Given the description of an element on the screen output the (x, y) to click on. 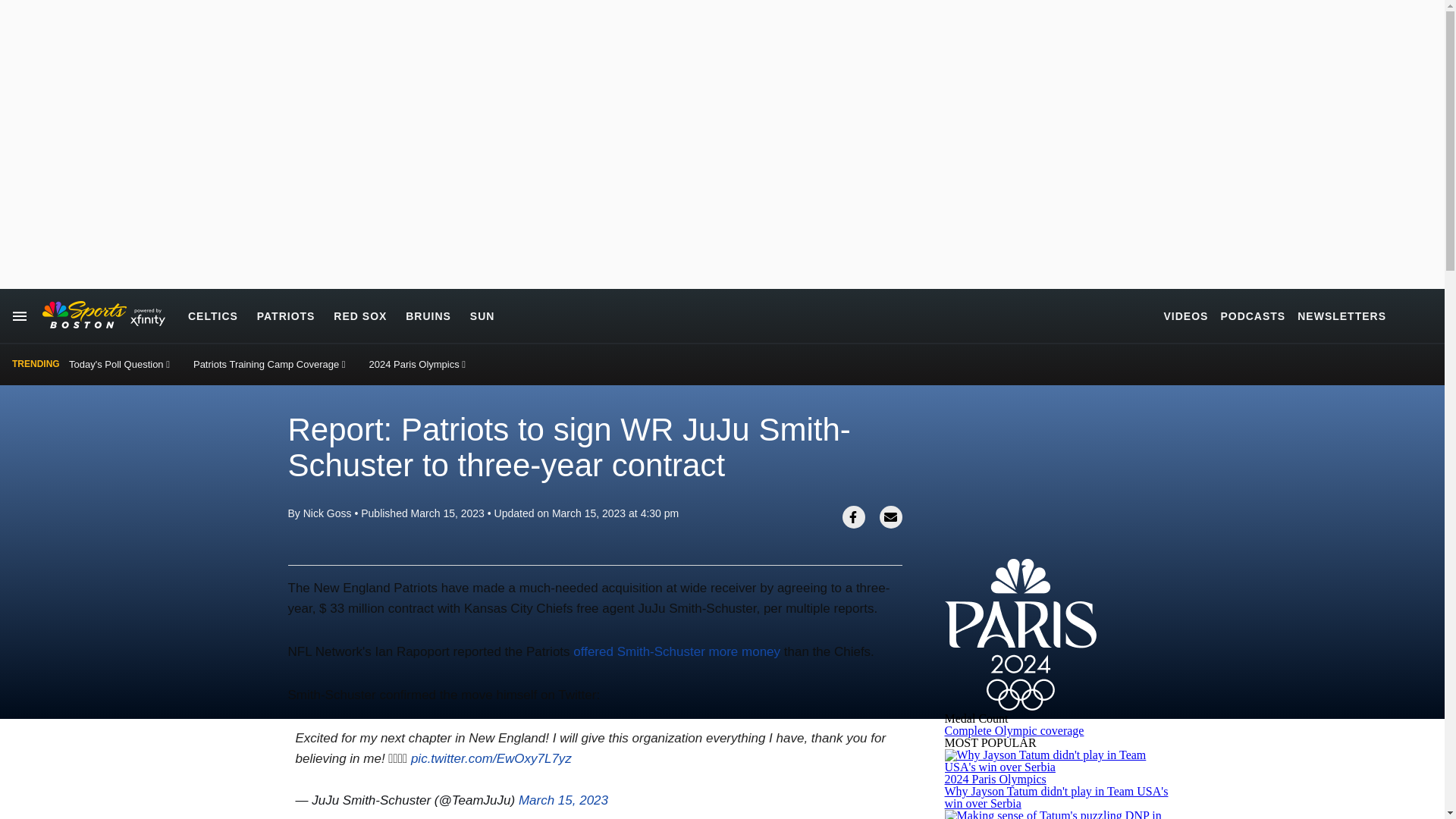
PATRIOTS (286, 315)
CELTICS (212, 315)
March 15, 2023 (563, 800)
Complete Olympic coverage (1014, 730)
2024 Paris Olympics (995, 779)
PODCASTS (1252, 315)
NEWSLETTERS (1341, 315)
BRUINS (428, 315)
RED SOX (360, 315)
Nick Goss (327, 512)
VIDEOS (1185, 315)
offered Smith-Schuster more money (676, 651)
SUN (482, 315)
Why Jayson Tatum didn't play in Team USA's win over Serbia (1056, 796)
